Given the description of an element on the screen output the (x, y) to click on. 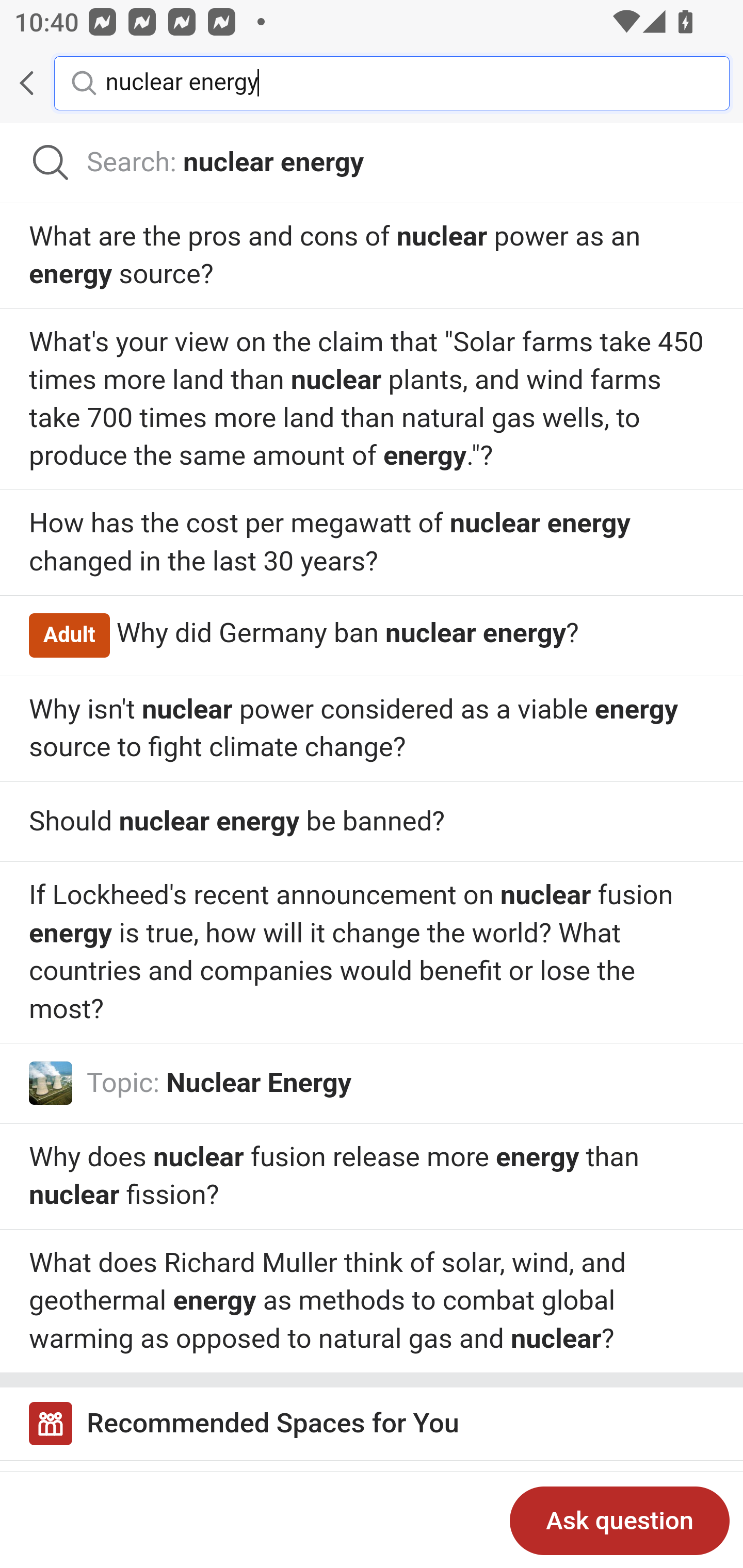
Me Home Search Add (371, 82)
nuclear energy (402, 82)
Search: nu (371, 162)
Icon for Nuclear Energy (50, 1083)
